Given the description of an element on the screen output the (x, y) to click on. 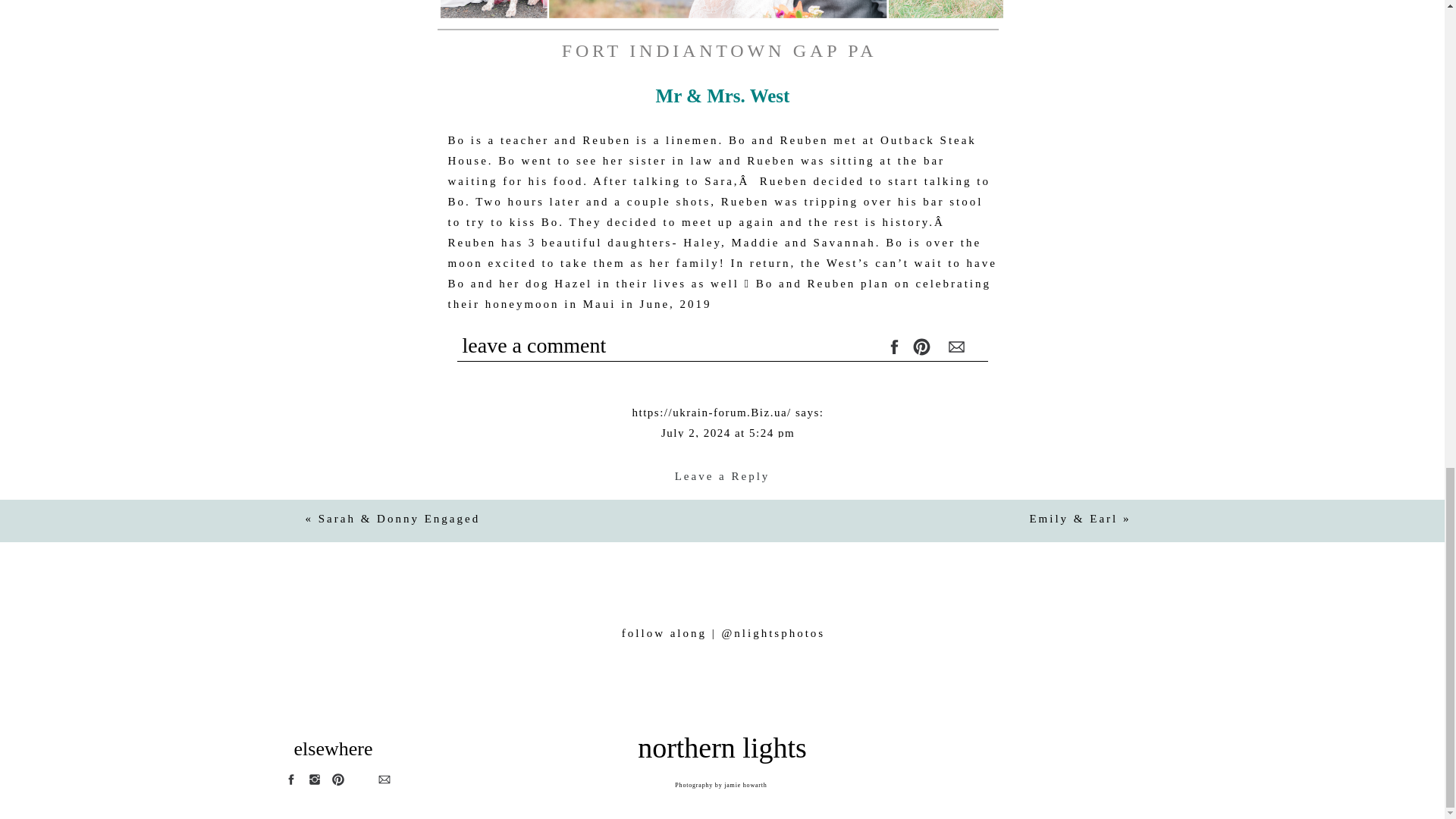
July 2, 2024 at 5:24 pm (727, 432)
Reply (727, 595)
Photography by jamie howarth (721, 786)
